Given the description of an element on the screen output the (x, y) to click on. 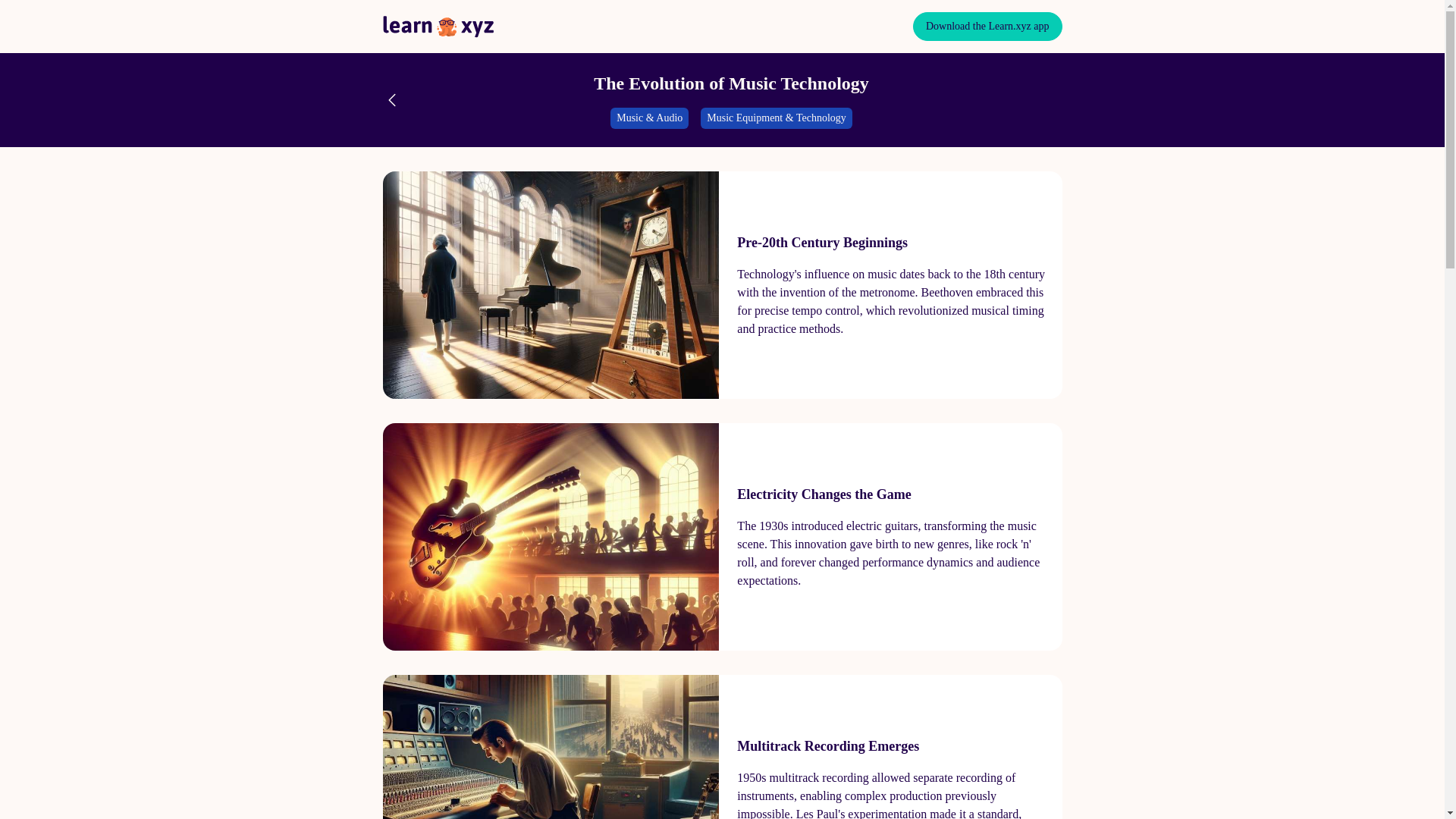
Download the Learn.xyz app (987, 26)
